Given the description of an element on the screen output the (x, y) to click on. 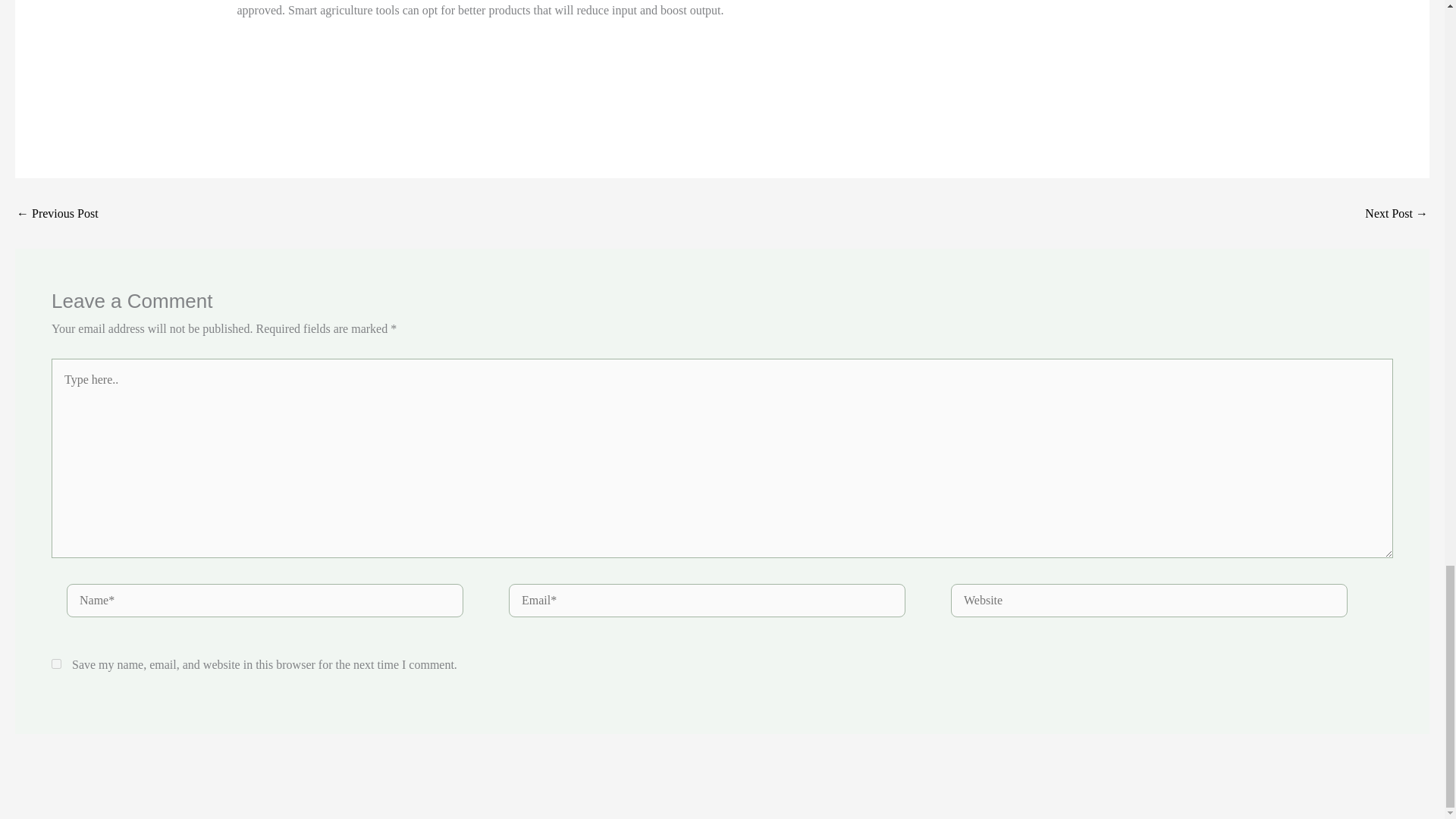
MOU with Agrofocus (57, 214)
yes (55, 664)
Agro focus MOU (1396, 214)
